Given the description of an element on the screen output the (x, y) to click on. 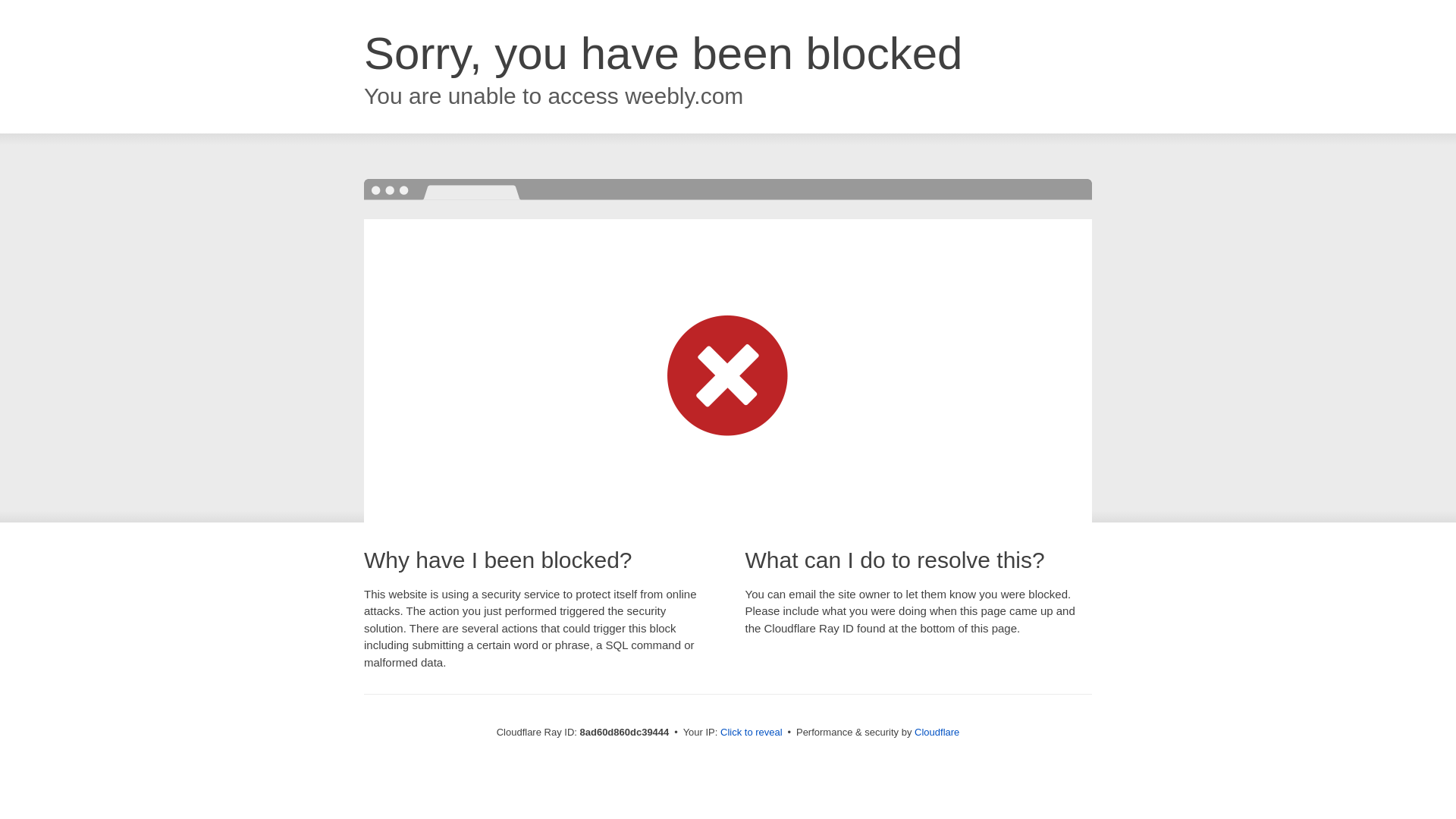
Click to reveal (751, 732)
Cloudflare (936, 731)
